Given the description of an element on the screen output the (x, y) to click on. 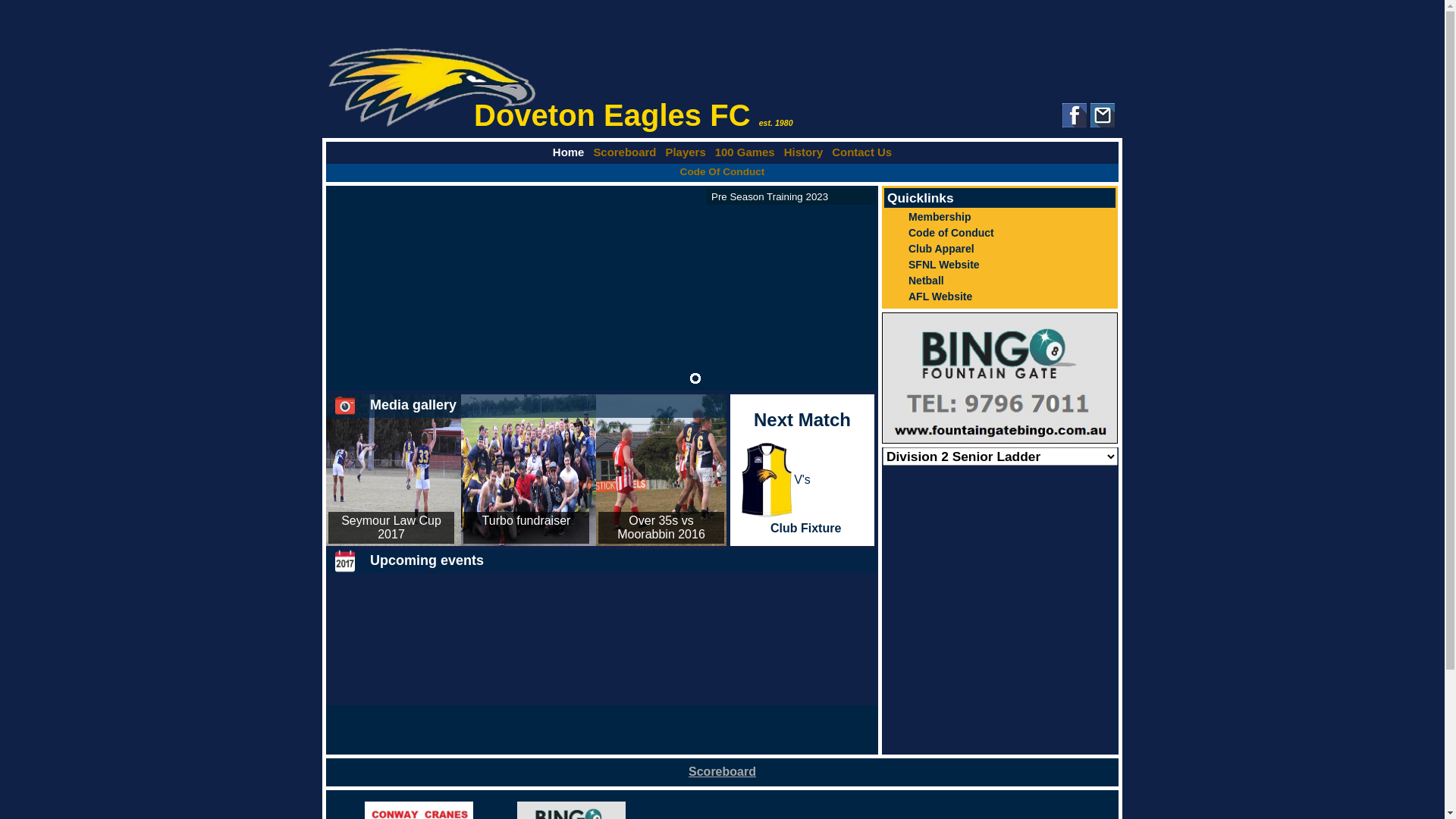
Club Apparel Element type: text (999, 248)
Scoreboard Element type: text (624, 151)
Netball Element type: text (999, 280)
SFNL Website Element type: text (999, 264)
Players Element type: text (685, 151)
Code of Conduct Element type: text (999, 232)
Code Of Conduct Element type: text (722, 171)
Membership Element type: text (999, 216)
Turbo fundraiser Element type: text (526, 520)
Home Element type: text (568, 151)
Seymour Law Cup 2017 Element type: text (391, 527)
AFL Website Element type: text (999, 295)
Scoreboard Element type: text (722, 771)
Club Fixture Element type: text (805, 528)
100 Games Element type: text (745, 151)
Over 35s vs Moorabbin 2016 Element type: text (661, 527)
Contact Us Element type: text (861, 151)
History Element type: text (803, 151)
Doveton Eagles FC est. 1980 Element type: text (722, 87)
Pre Season Training 2023 Element type: text (790, 196)
